Given the description of an element on the screen output the (x, y) to click on. 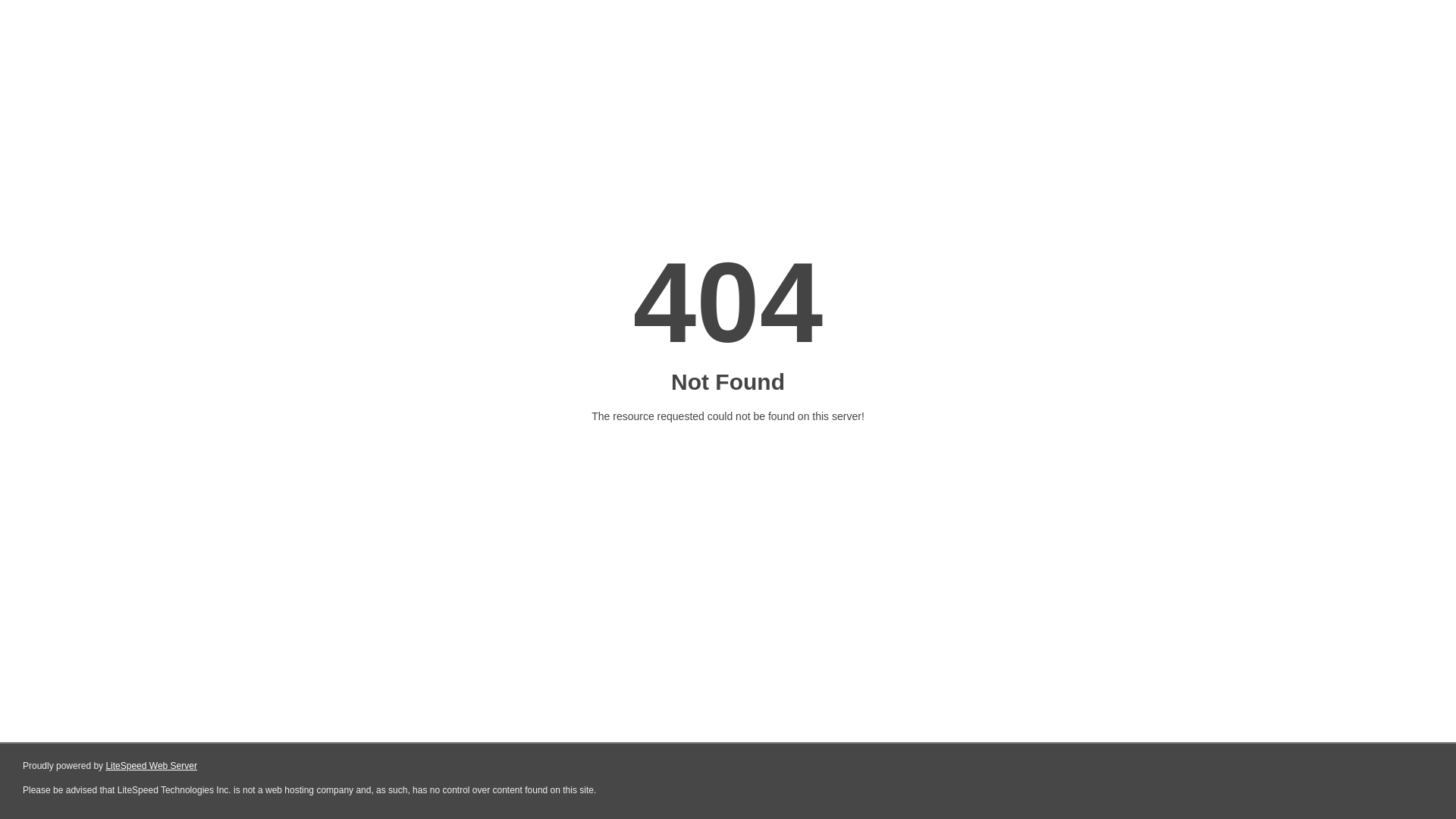
LiteSpeed Web Server Element type: text (151, 765)
